Given the description of an element on the screen output the (x, y) to click on. 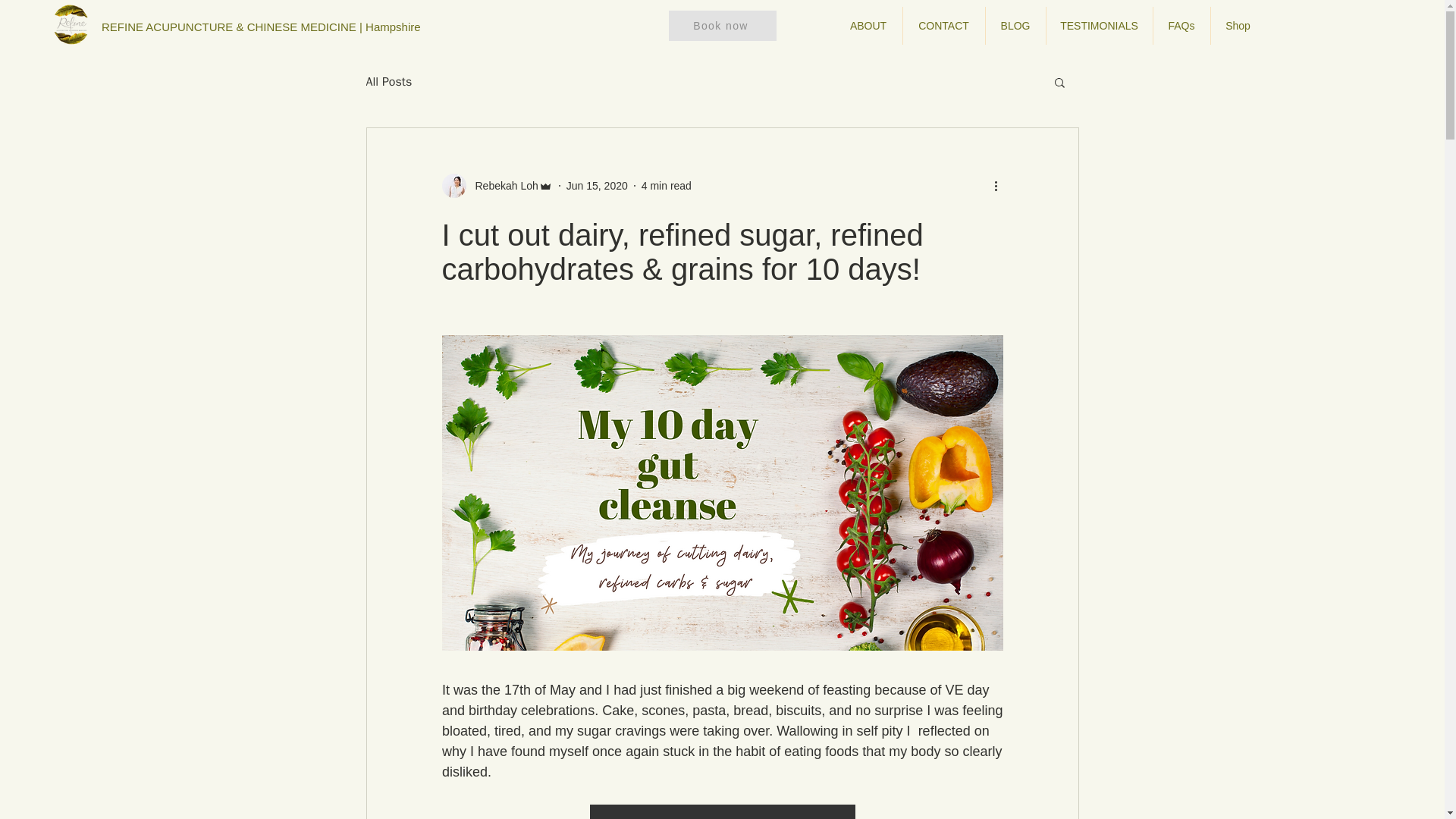
Jun 15, 2020 (596, 184)
CONTACT (943, 25)
Rebekah Loh (501, 185)
Book now (722, 25)
ABOUT (867, 25)
FAQs (1181, 25)
4 min read (666, 184)
All Posts (388, 82)
TESTIMONIALS (1099, 25)
Shop (1237, 25)
BLOG (1015, 25)
Rebekah Loh (496, 185)
